Given the description of an element on the screen output the (x, y) to click on. 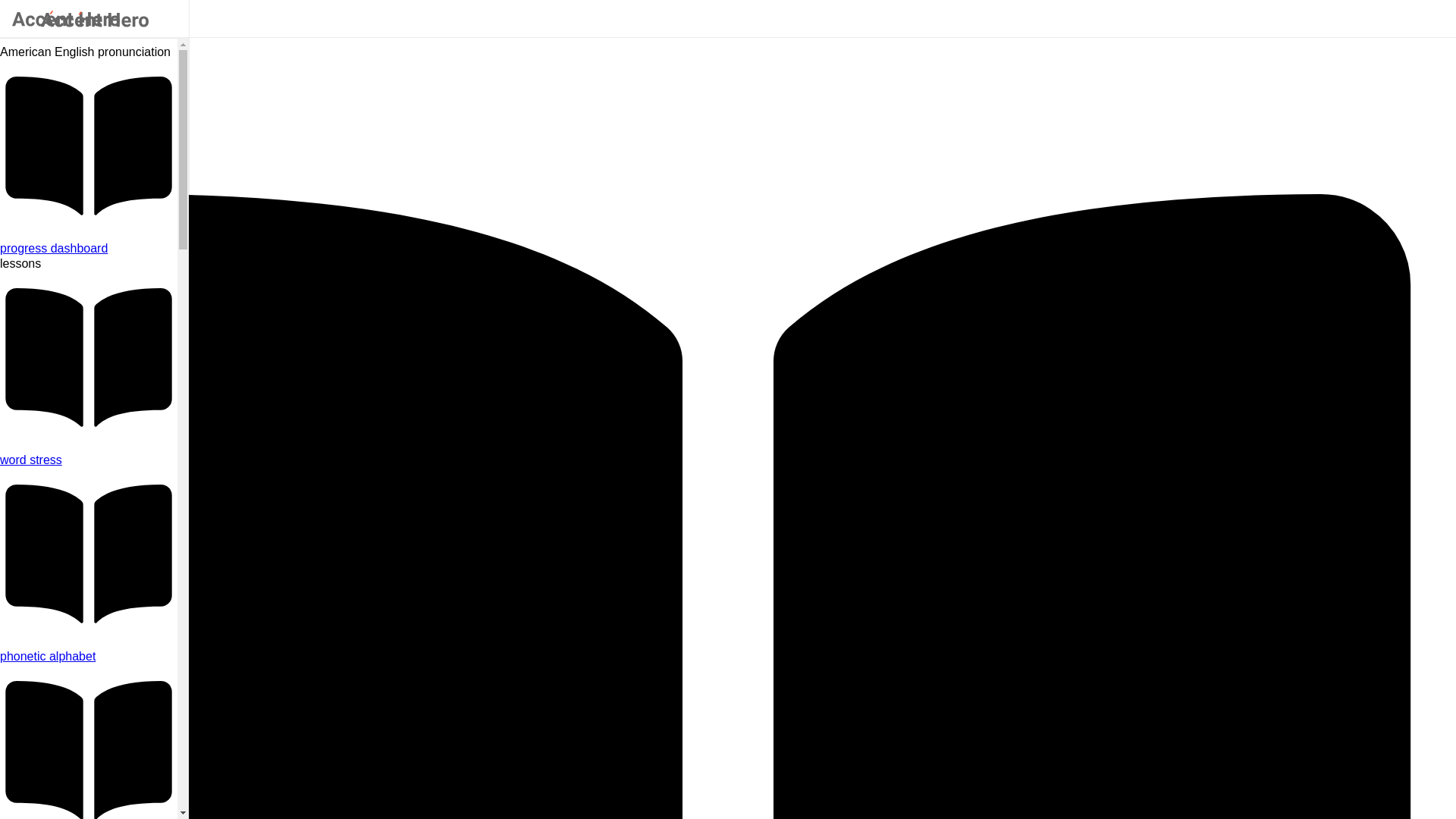
Learn to precisely articulate each sound (88, 656)
Learn how word stress influences your accent (88, 459)
